Given the description of an element on the screen output the (x, y) to click on. 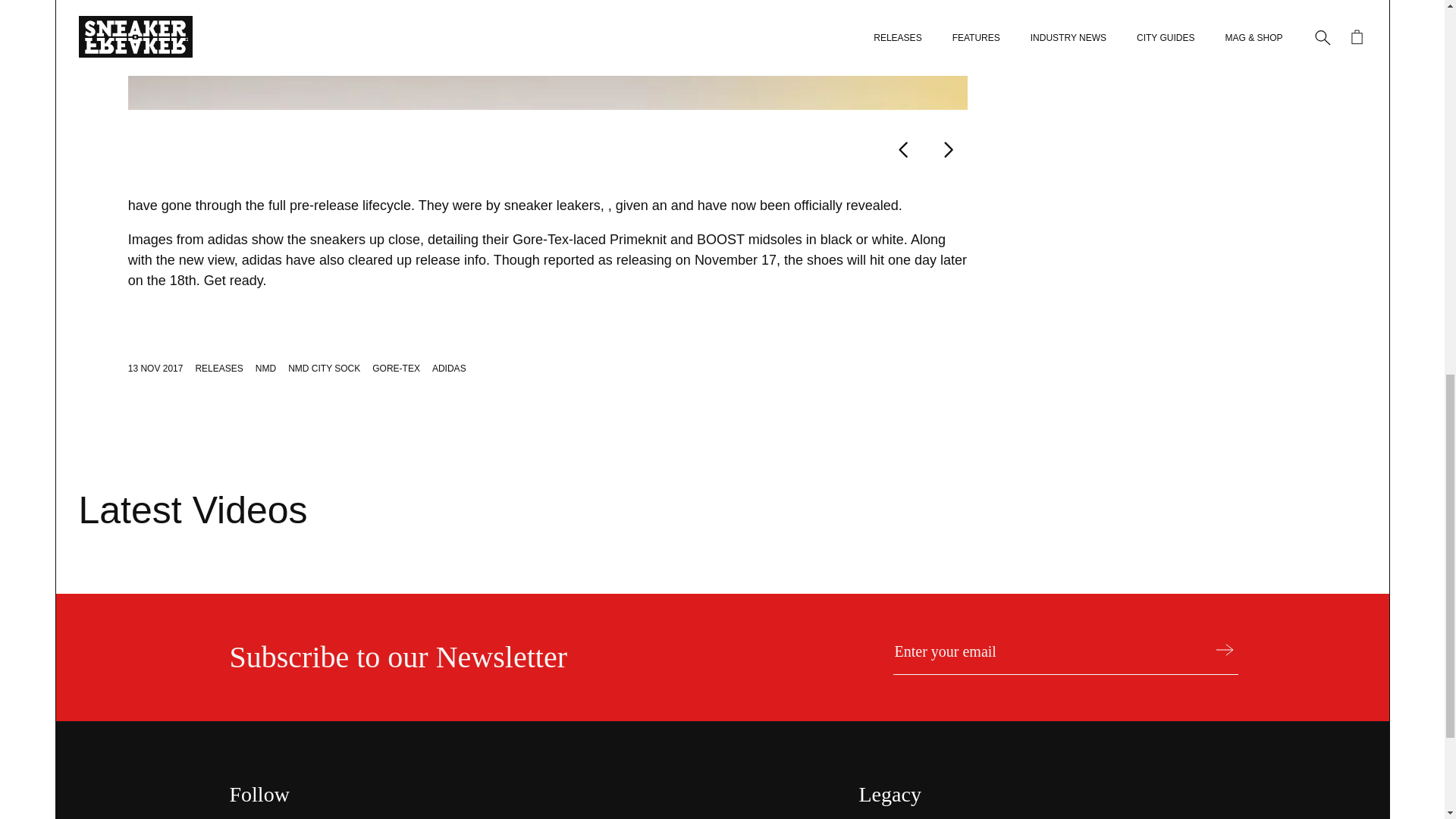
GORE-TEX (396, 368)
ADIDAS (448, 368)
NMD (266, 368)
RELEASES (219, 368)
NMD CITY SOCK (323, 368)
